Given the description of an element on the screen output the (x, y) to click on. 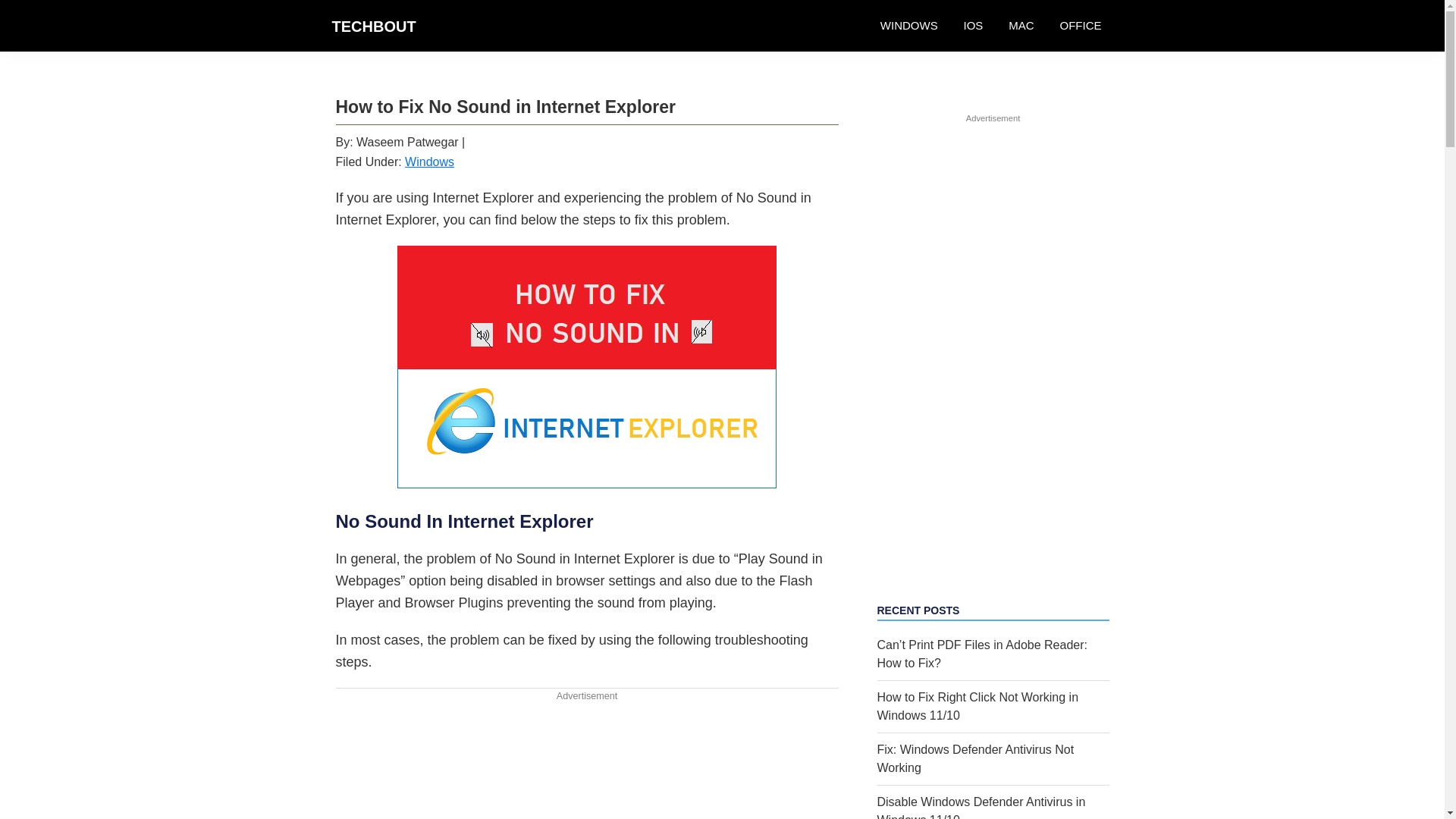
MAC (1021, 25)
OFFICE (1080, 25)
WINDOWS (909, 25)
Windows (429, 161)
Advertisement (586, 761)
How to Fix No Sound in Internet Explorer (586, 366)
Fix: Windows Defender Antivirus Not Working (975, 757)
TECHBOUT (373, 26)
IOS (973, 25)
